Given the description of an element on the screen output the (x, y) to click on. 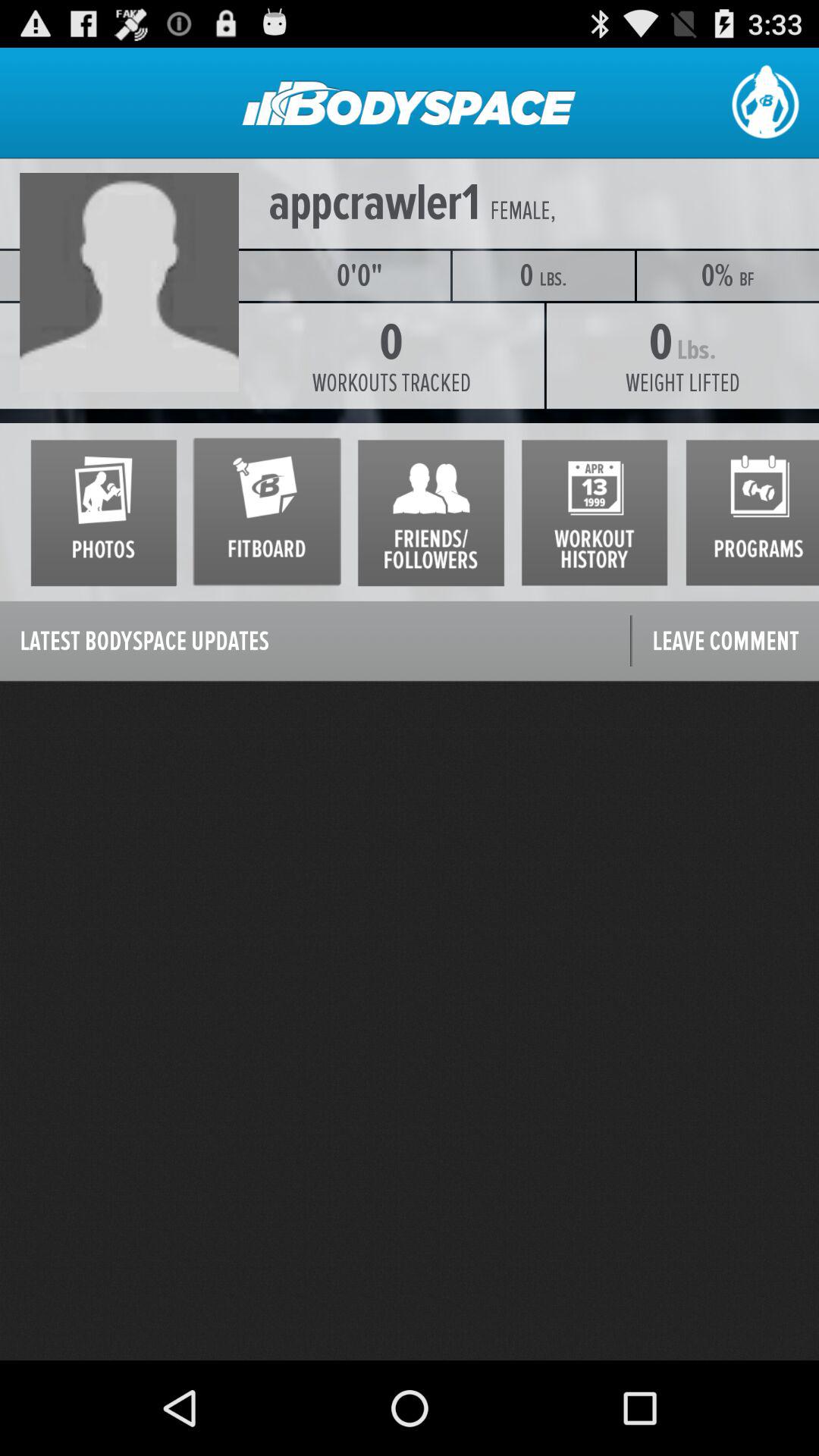
launch icon below appcrawler1 item (134, 275)
